Given the description of an element on the screen output the (x, y) to click on. 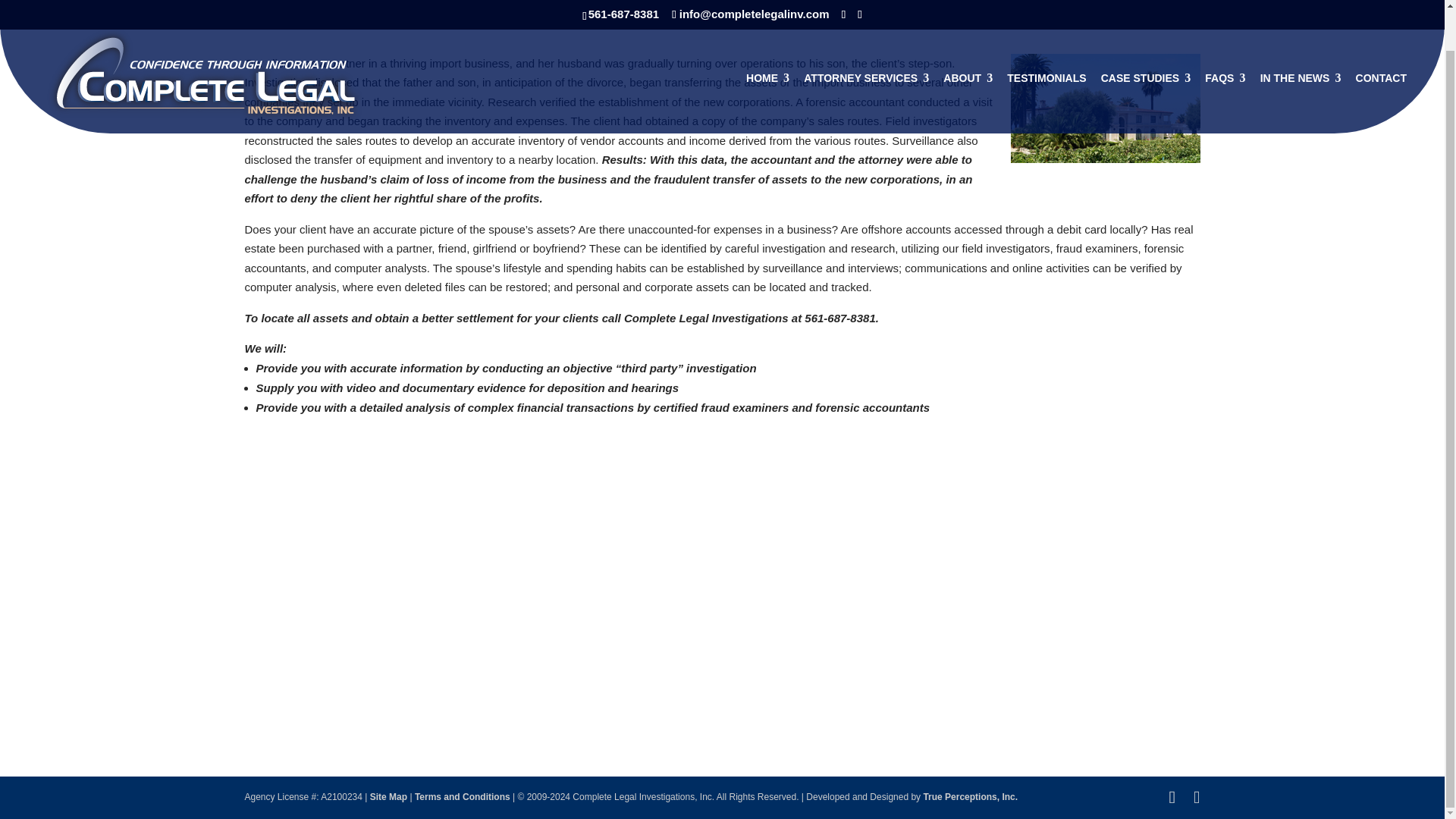
IN THE NEWS (1300, 60)
CASE STUDIES (1145, 60)
TESTIMONIALS (1046, 60)
ATTORNEY SERVICES (865, 60)
